Given the description of an element on the screen output the (x, y) to click on. 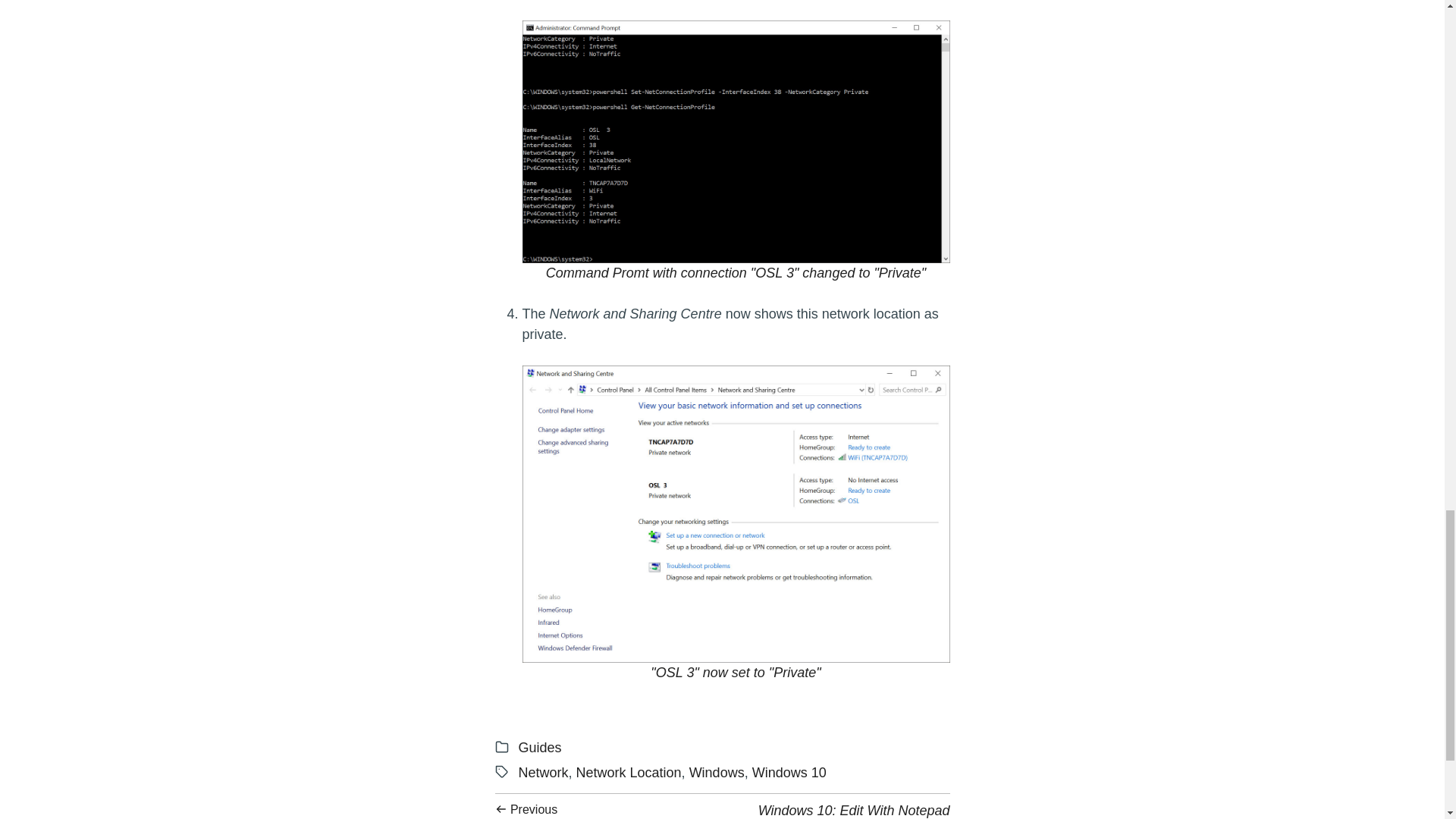
Network (543, 772)
Windows 10 (789, 772)
"OSL 3" now set to "Private" (735, 672)
Windows (854, 811)
Command Promt with connection "OSL 3" changed to "Private" (716, 772)
Guides (735, 272)
Network Location (540, 747)
